Given the description of an element on the screen output the (x, y) to click on. 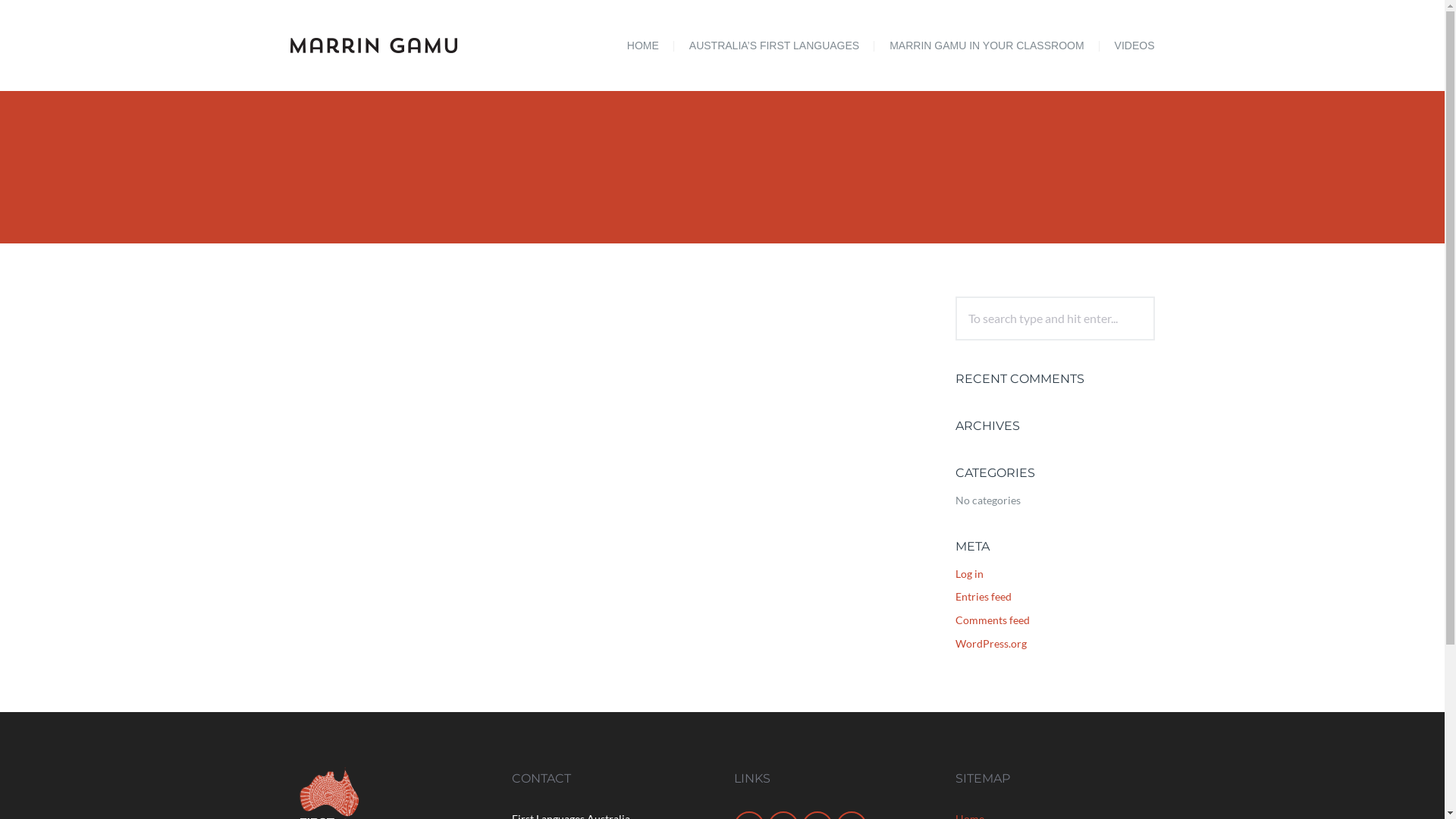
Comments feed Element type: text (992, 619)
Entries feed Element type: text (983, 595)
Marrin Gamu Element type: hover (389, 45)
Log in Element type: text (969, 573)
WordPress.org Element type: text (990, 643)
VIDEOS Element type: text (1130, 45)
MARRIN GAMU IN YOUR CLASSROOM Element type: text (986, 45)
HOME Element type: text (642, 45)
